Given the description of an element on the screen output the (x, y) to click on. 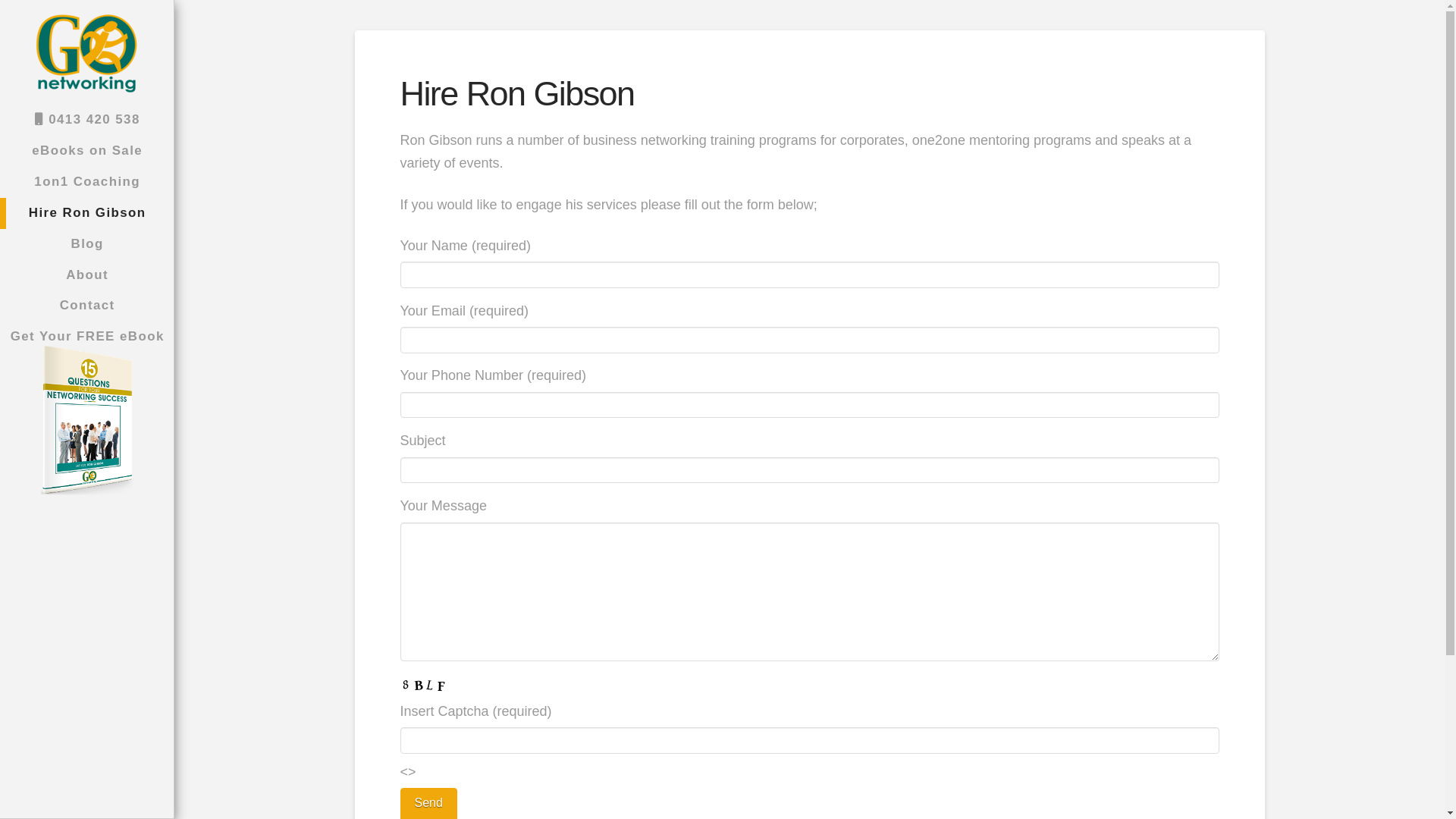
0413 420 538 Element type: text (86, 119)
Contact Element type: text (86, 305)
Blog Element type: text (86, 244)
About Element type: text (86, 275)
Hire Ron Gibson Element type: text (86, 213)
1on1 Coaching Element type: text (86, 181)
Get Your FREE eBook Element type: text (86, 420)
eBooks on Sale Element type: text (86, 150)
